Given the description of an element on the screen output the (x, y) to click on. 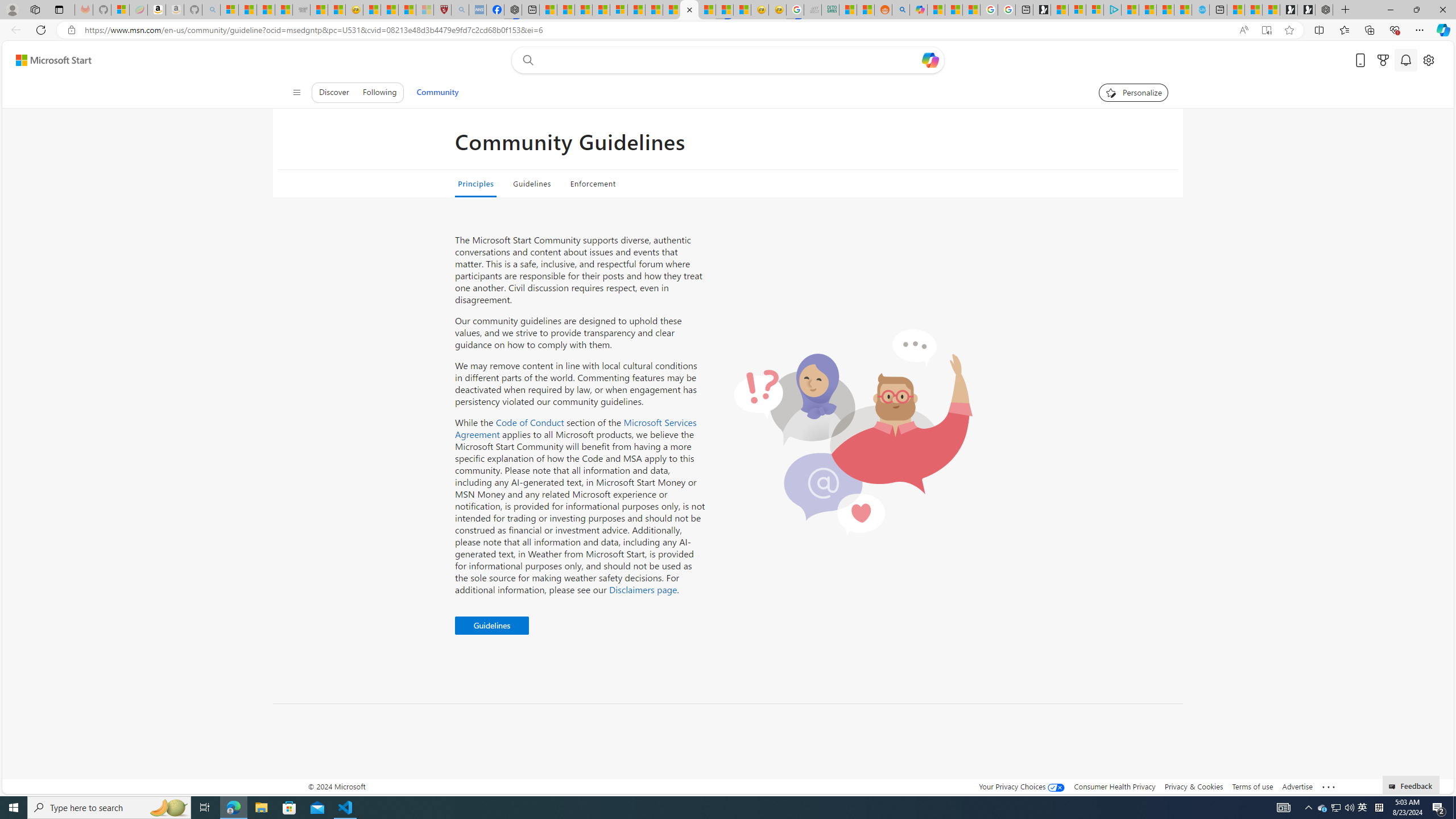
Feedback (1411, 784)
Microsoft Start Gaming (1041, 9)
Consumer Health Privacy (1115, 786)
Enter your search term (730, 59)
Navy Quest (813, 9)
Science - MSN (406, 9)
Web search (526, 60)
12 Popular Science Lies that Must be Corrected - Sleeping (424, 9)
Privacy & Cookies (1193, 786)
Microsoft-Report a Concern to Bing (119, 9)
